Given the description of an element on the screen output the (x, y) to click on. 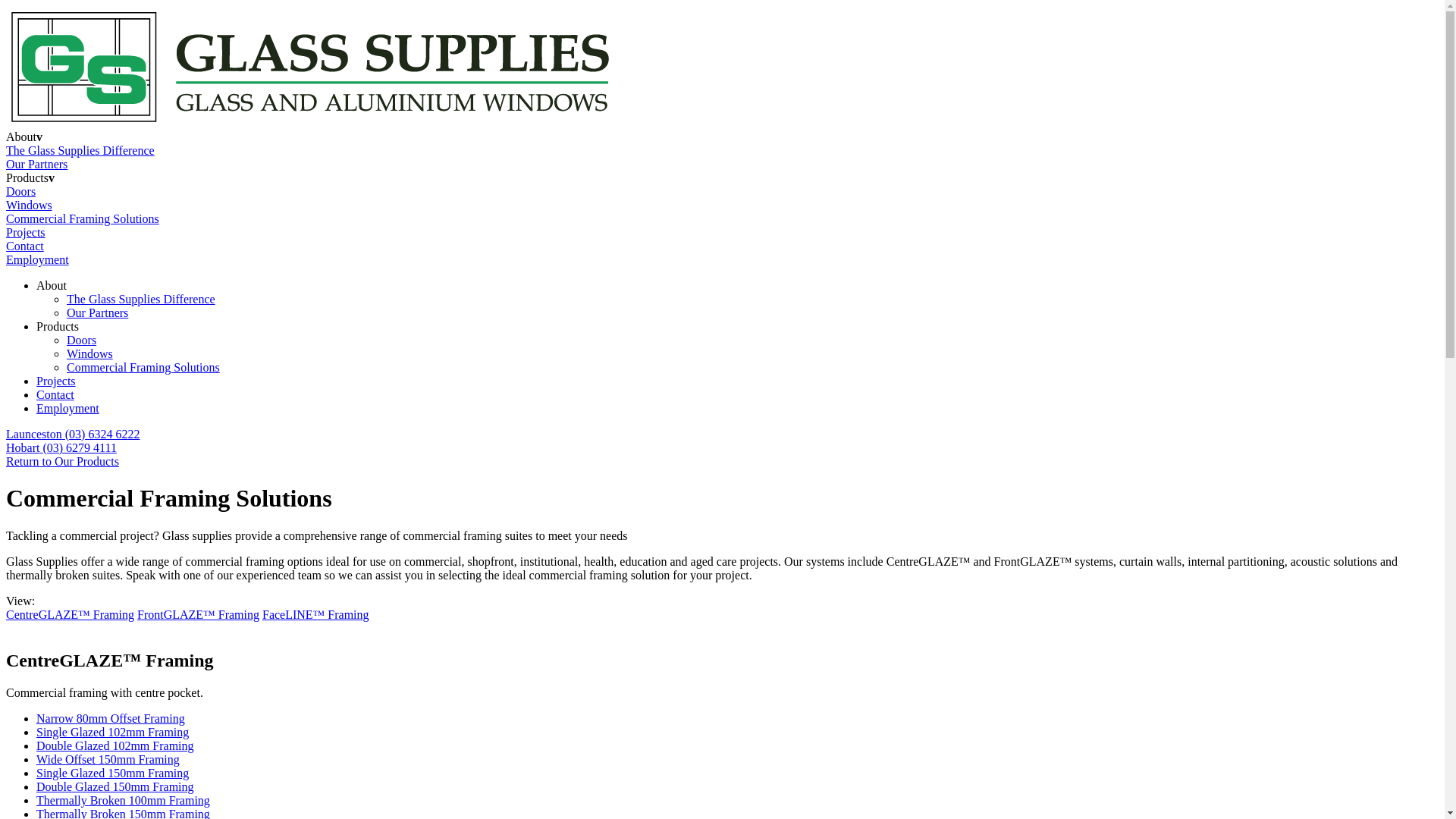
Return to Our Products Element type: text (62, 461)
Single Glazed 102mm Framing Element type: text (112, 731)
Commercial Framing Solutions Element type: text (142, 366)
Narrow 80mm Offset Framing Element type: text (110, 718)
Doors Element type: text (20, 191)
Single Glazed 150mm Framing Element type: text (112, 772)
Windows Element type: text (29, 204)
Projects Element type: text (25, 231)
Double Glazed 102mm Framing Element type: text (115, 745)
Launceston (03) 6324 6222 Element type: text (722, 434)
Contact Element type: text (24, 245)
Doors Element type: text (81, 339)
Employment Element type: text (67, 407)
Commercial Framing Solutions Element type: text (82, 218)
Projects Element type: text (55, 380)
Windows Element type: text (89, 353)
Contact Element type: text (55, 394)
Employment Element type: text (37, 259)
The Glass Supplies Difference Element type: text (80, 150)
Double Glazed 150mm Framing Element type: text (115, 786)
Our Partners Element type: text (97, 312)
Our Partners Element type: text (36, 163)
Hobart (03) 6279 4111 Element type: text (722, 448)
Wide Offset 150mm Framing Element type: text (107, 759)
Thermally Broken 100mm Framing Element type: text (123, 799)
The Glass Supplies Difference Element type: text (140, 298)
